Given the description of an element on the screen output the (x, y) to click on. 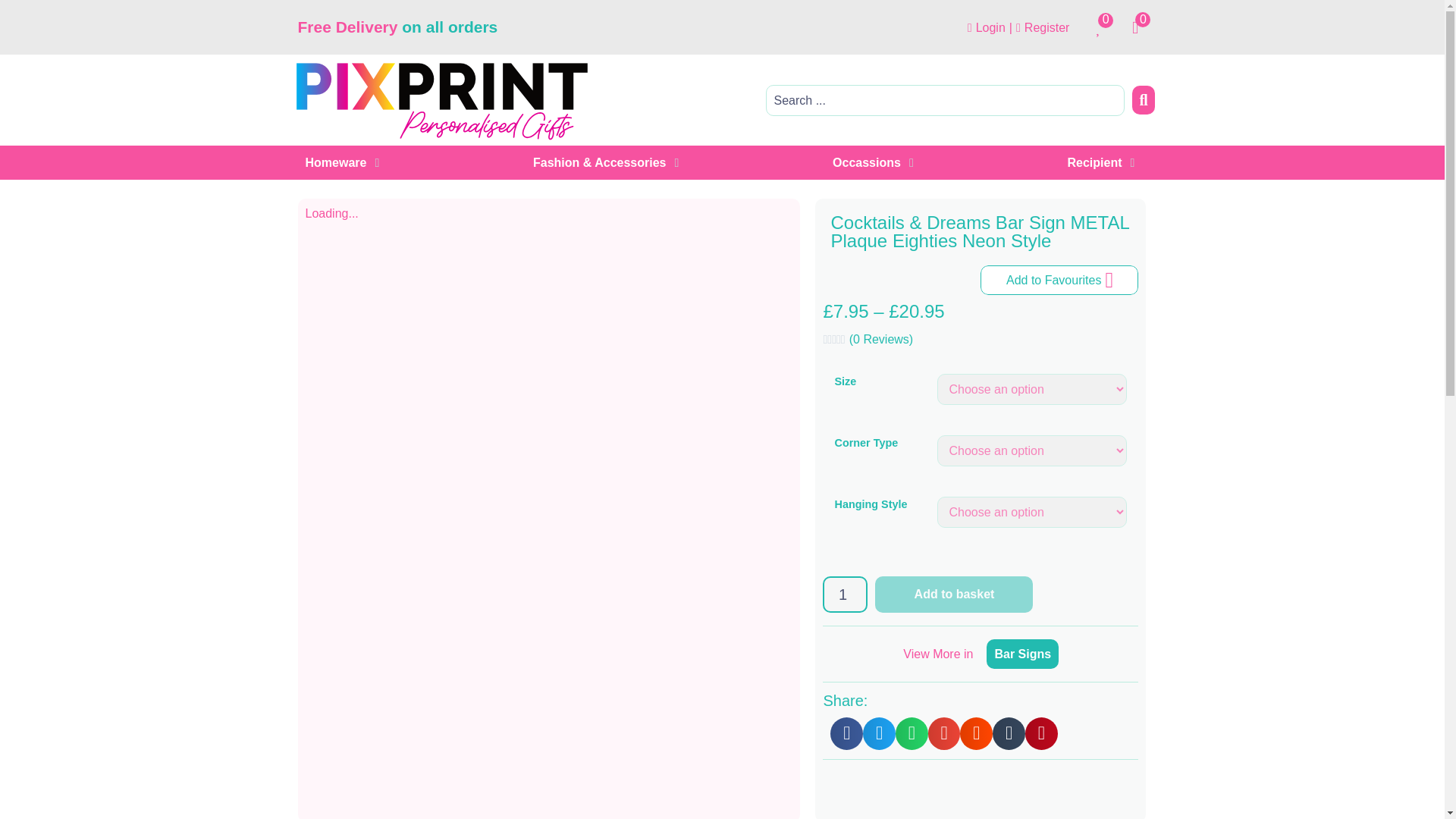
0 (1141, 27)
Register (1042, 26)
Homeware (335, 162)
Login (987, 26)
1 (844, 594)
0 (1102, 27)
View your shopping cart (1141, 27)
